Given the description of an element on the screen output the (x, y) to click on. 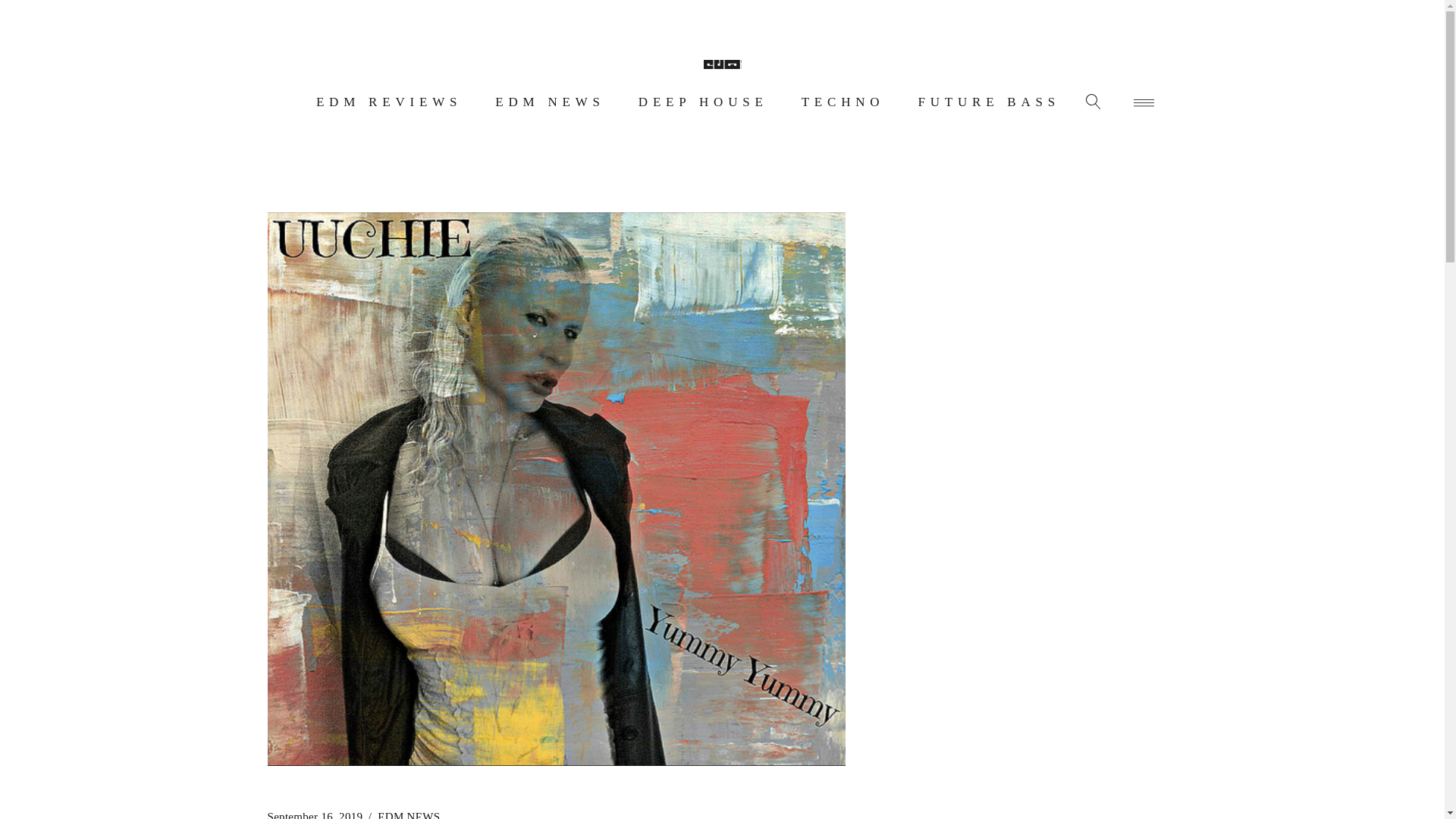
EDM NEWS (408, 812)
September 16, 2019 (314, 812)
FUTURE BASS (988, 101)
EDM REVIEWS (388, 101)
EDM NEWS (549, 101)
DEEP HOUSE (703, 101)
TECHNO (842, 101)
